Given the description of an element on the screen output the (x, y) to click on. 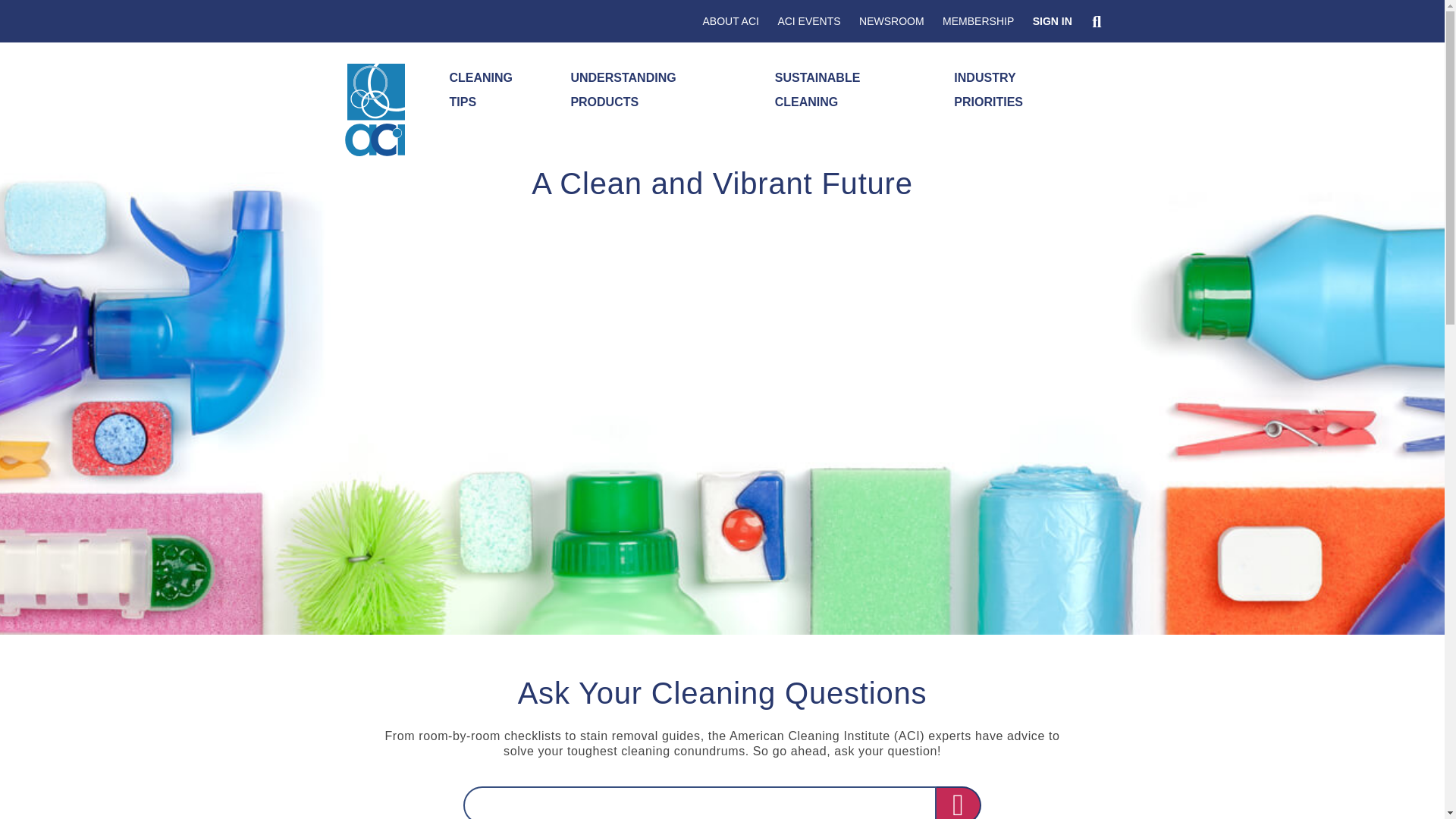
ABOUT ACI (729, 22)
MEMBERSHIP (978, 22)
SIGN IN (1052, 22)
NEWSROOM (891, 22)
CLEANING TIPS (495, 90)
ACI EVENTS (808, 22)
